Given the description of an element on the screen output the (x, y) to click on. 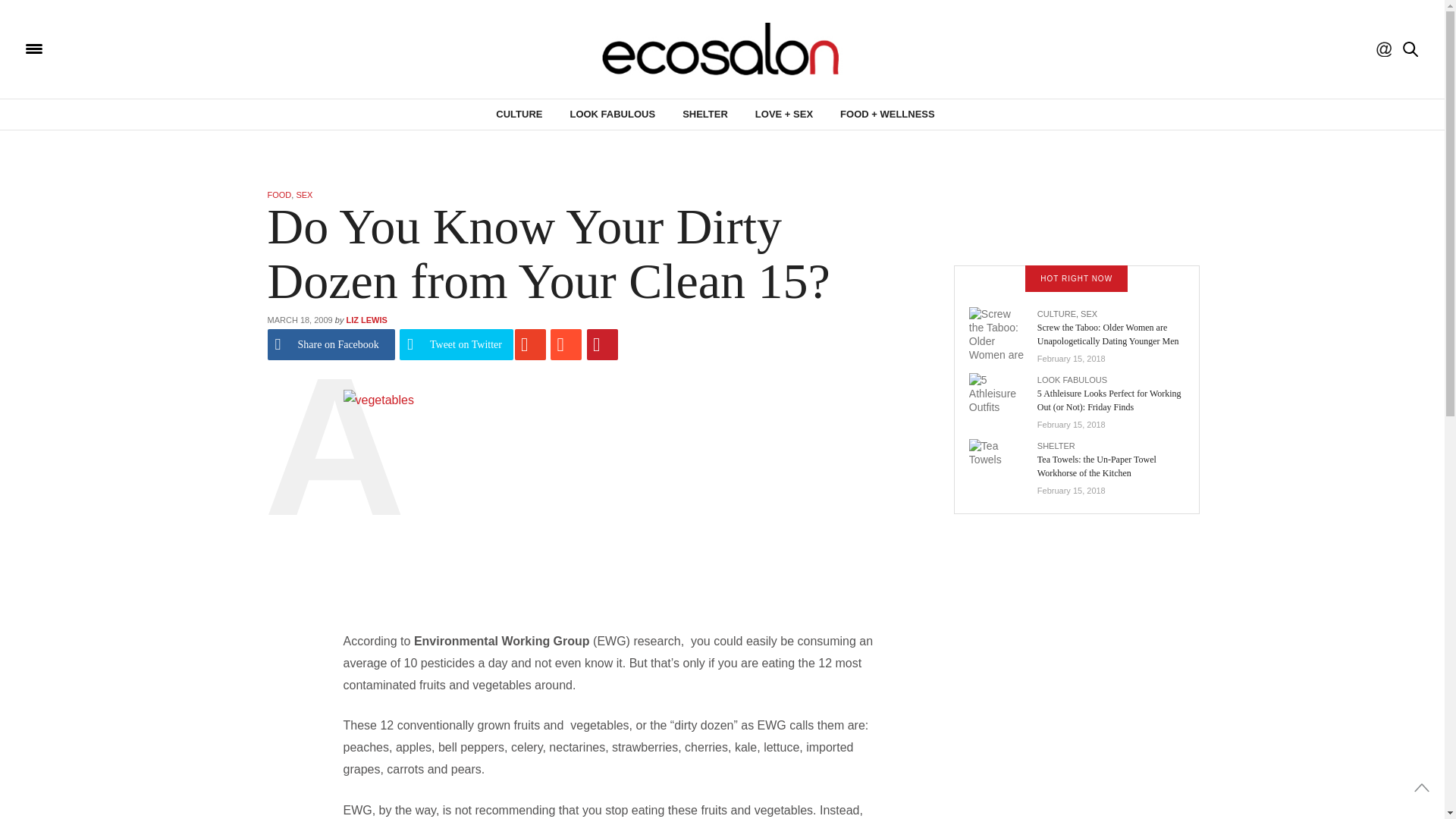
CULTURE (518, 114)
LOOK FABULOUS (612, 114)
SHELTER (705, 114)
EcoSalon (125, 47)
EcoSalon (722, 49)
